Given the description of an element on the screen output the (x, y) to click on. 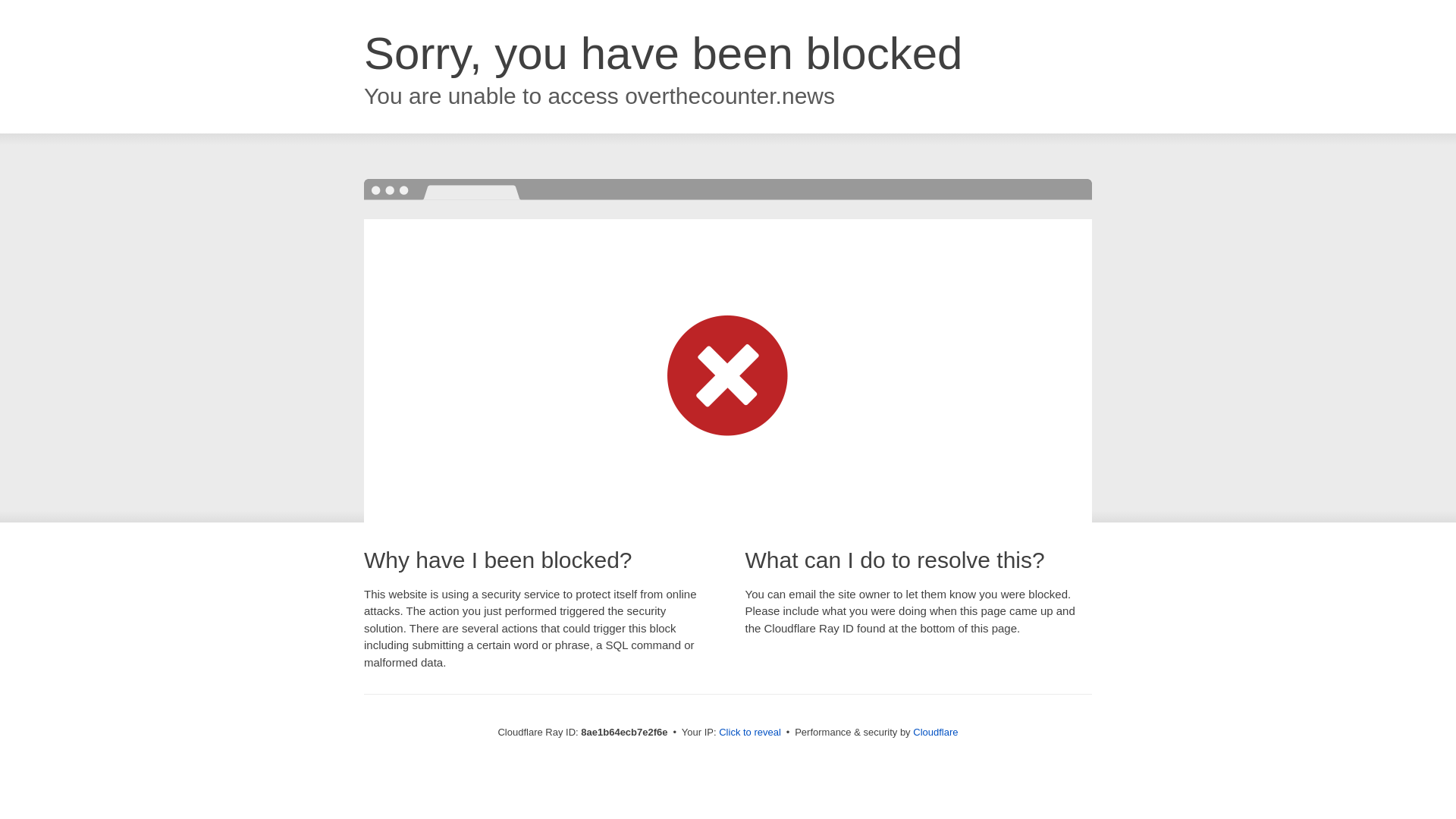
Cloudflare (935, 731)
Click to reveal (749, 732)
